Given the description of an element on the screen output the (x, y) to click on. 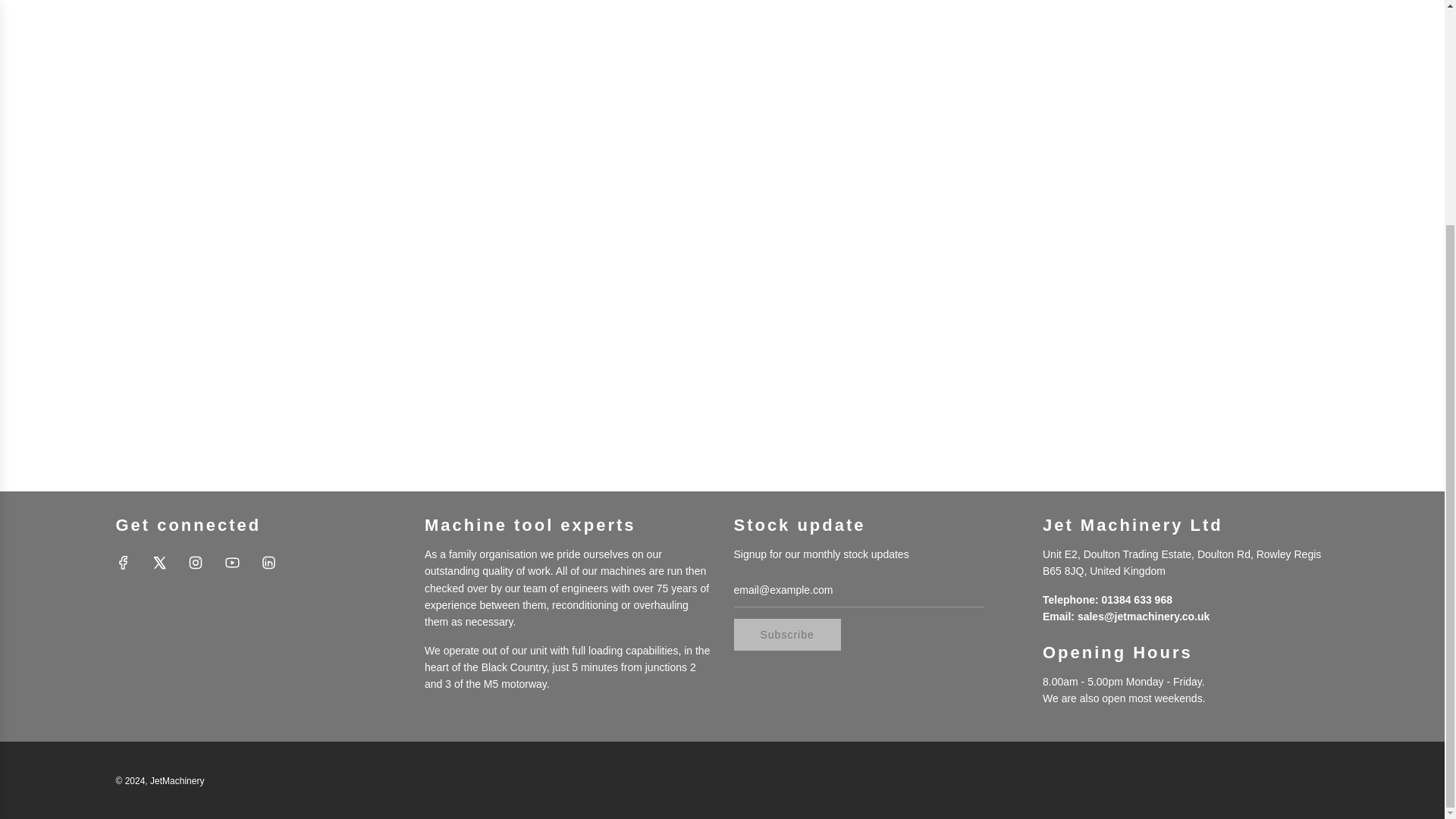
Subscribe (787, 634)
01384 633 968 (1137, 599)
tel:01384 633 968 (1137, 599)
